Given the description of an element on the screen output the (x, y) to click on. 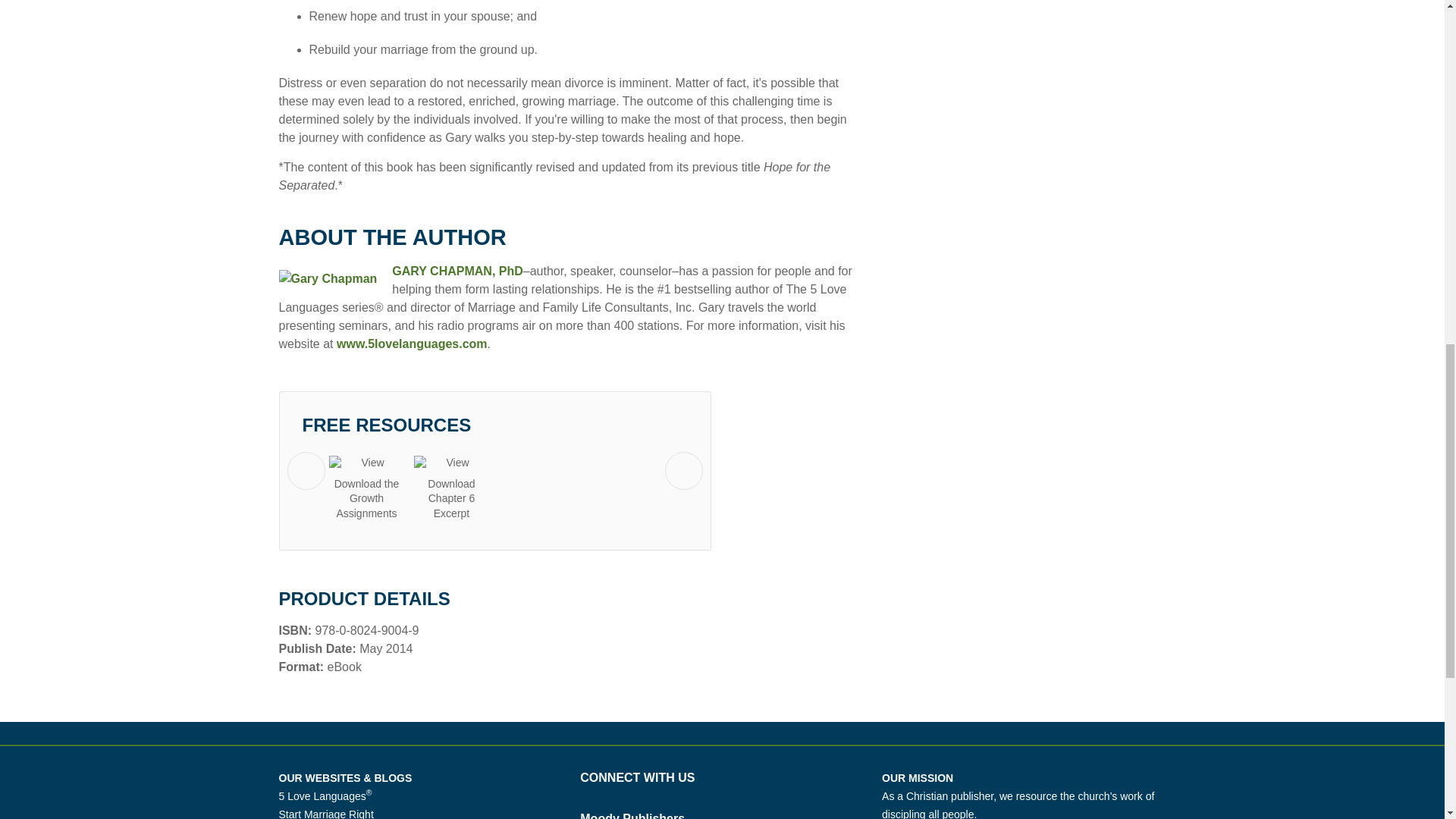
Gary Chapman (328, 279)
Download Chapter 6 Excerpt (451, 487)
The 5 Love Languages (325, 796)
Gary Chapman (456, 270)
Start Marriage Right (326, 813)
Download the Growth Assignments (366, 487)
